Given the description of an element on the screen output the (x, y) to click on. 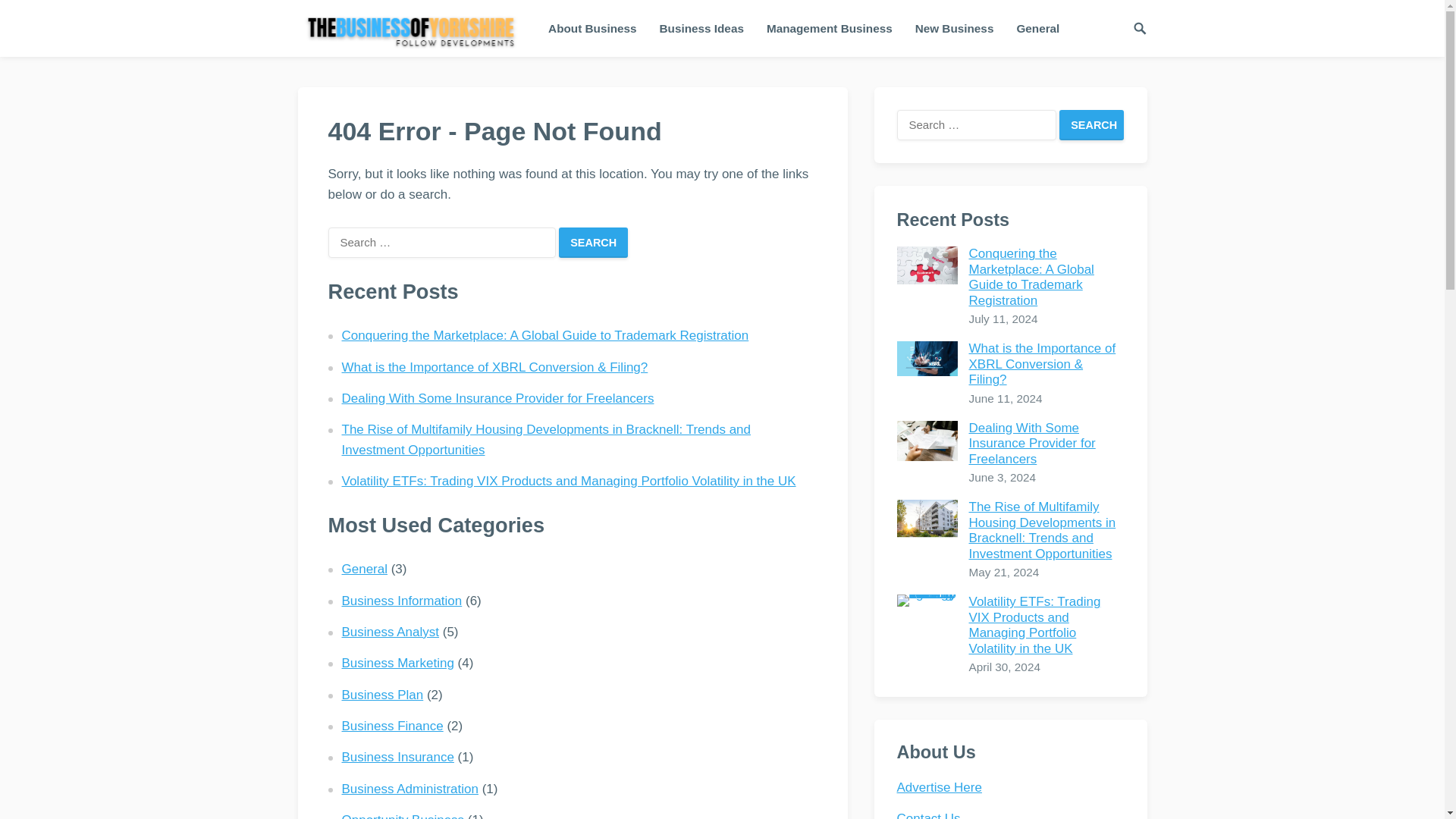
Opportunity Business (402, 816)
Management Business (829, 28)
Search (593, 242)
New Business (955, 28)
Business Finance (391, 726)
Business Information (400, 600)
